Given the description of an element on the screen output the (x, y) to click on. 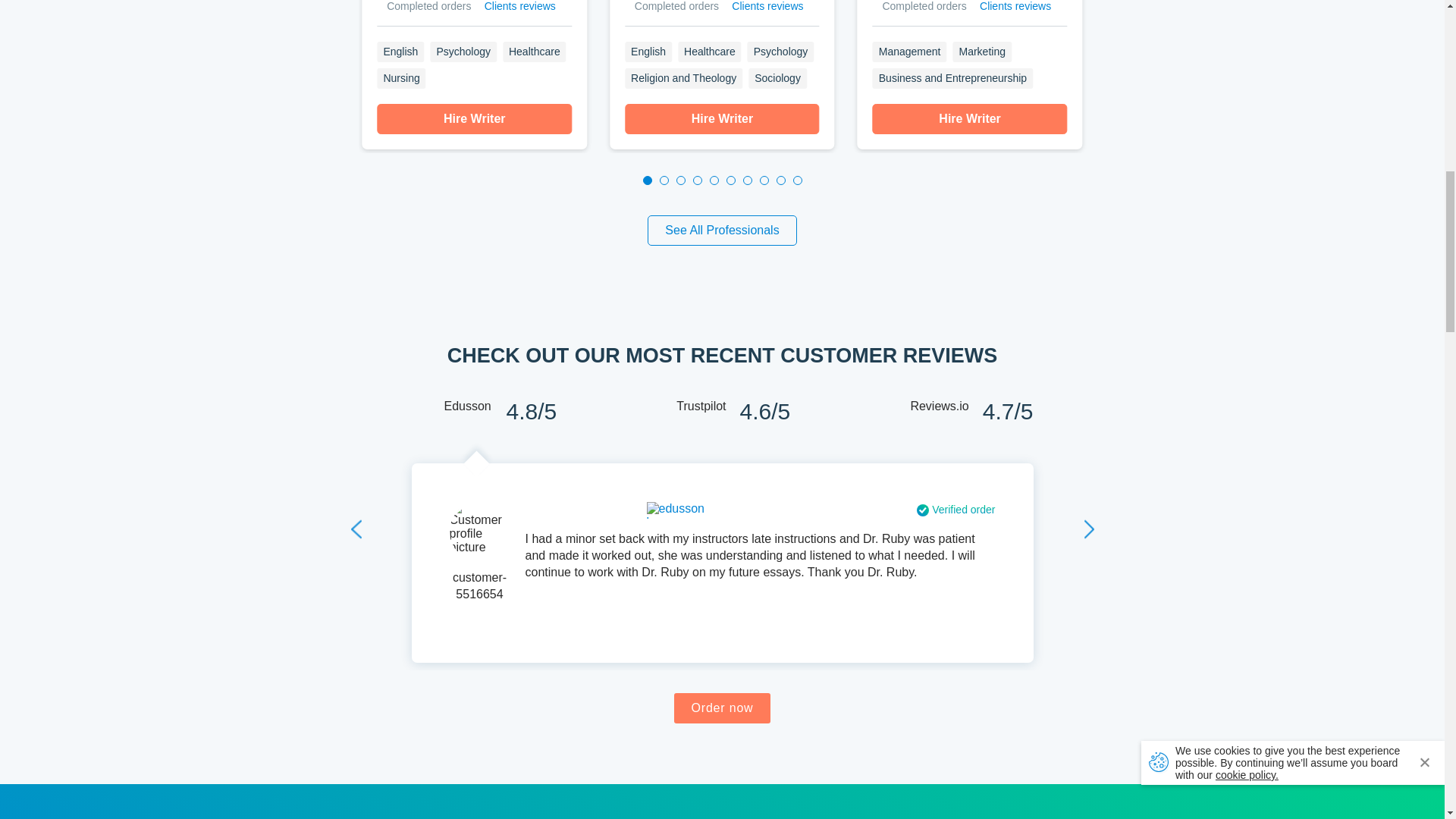
Hire Writer (474, 119)
Hire Writer (721, 119)
Hire Writer (969, 119)
